Given the description of an element on the screen output the (x, y) to click on. 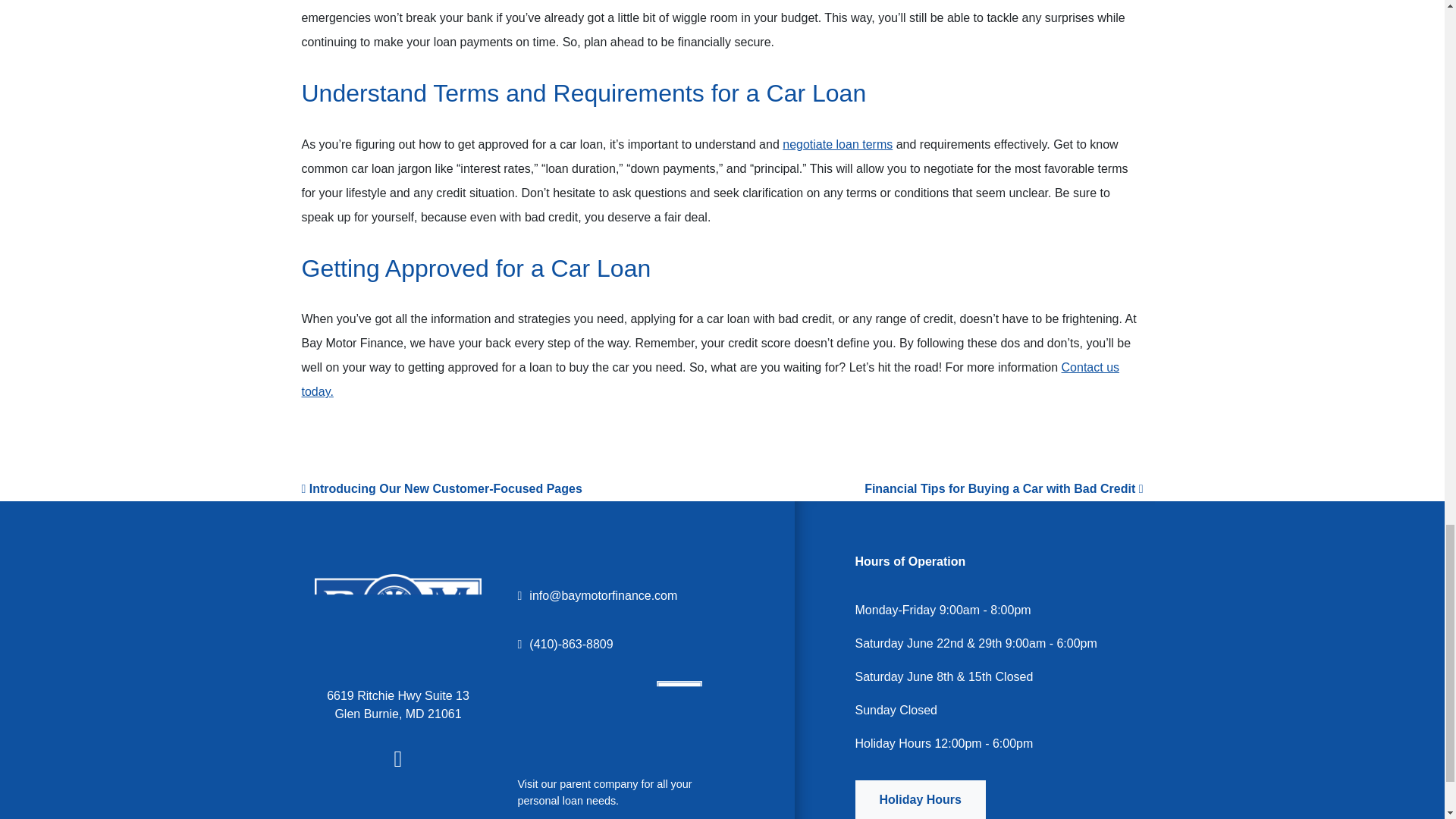
Contact us today. (710, 379)
negotiate loan terms (837, 144)
